Given the description of an element on the screen output the (x, y) to click on. 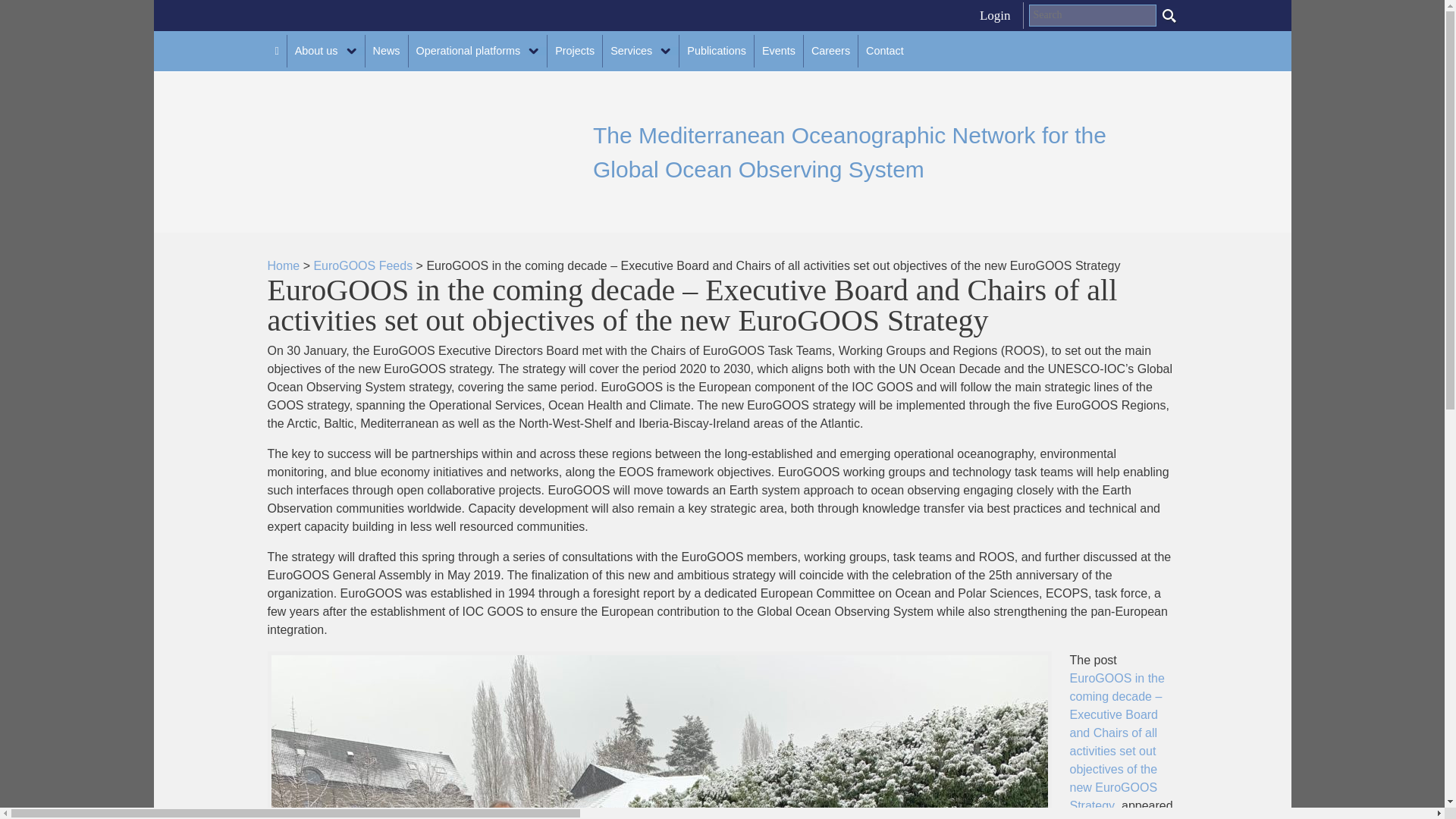
Go to EuroGOOS Feeds. (362, 265)
About us (325, 51)
Events (778, 51)
Contact (885, 51)
Services (640, 51)
Login (994, 15)
Search (1169, 15)
Projects (574, 51)
Home (282, 265)
EuroGOOS Feeds (362, 265)
